Given the description of an element on the screen output the (x, y) to click on. 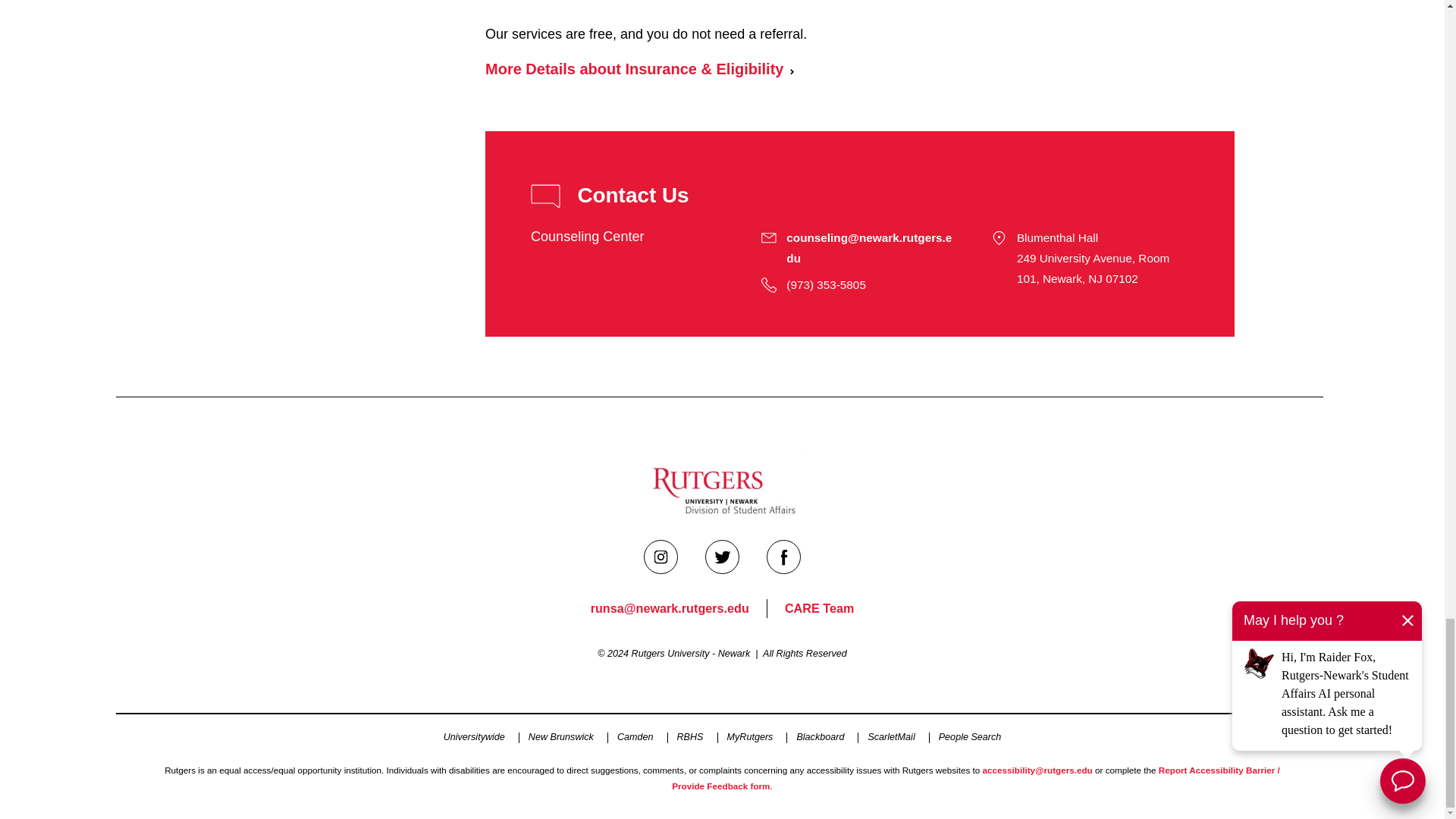
CARE Team (818, 608)
